Given the description of an element on the screen output the (x, y) to click on. 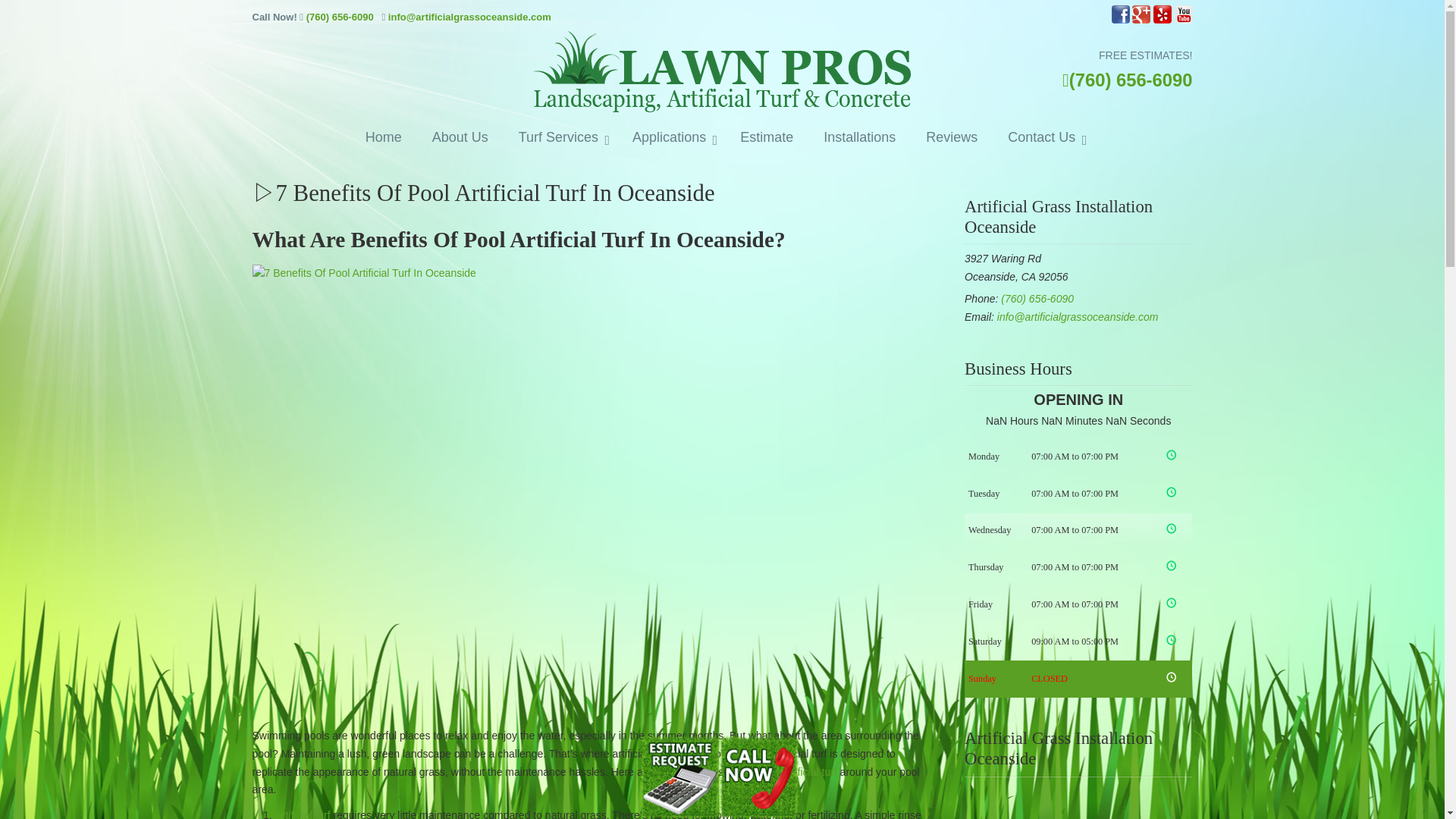
About Us (459, 137)
Artificial turf (302, 814)
Applications (671, 137)
Home (383, 137)
Contact Us (1043, 137)
Installations (859, 137)
Turf Services (560, 137)
YouTube (1182, 19)
Estimate (766, 137)
